Given the description of an element on the screen output the (x, y) to click on. 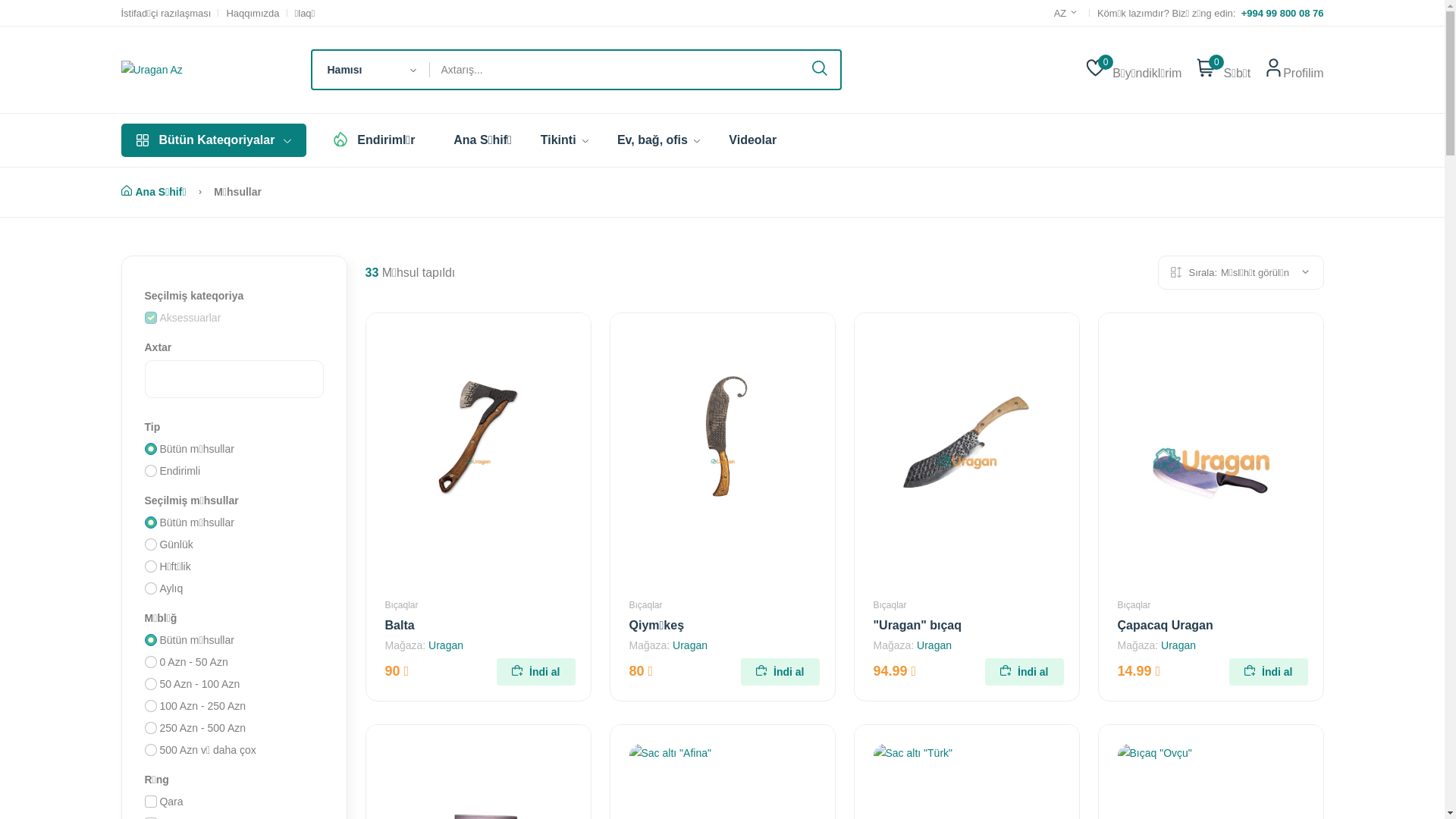
Uragan Element type: text (933, 645)
0 Element type: text (1205, 69)
Profilim Element type: text (1303, 69)
Balta Element type: text (399, 624)
Uragan Element type: text (1178, 645)
Tikinti Element type: text (564, 139)
Uragan Element type: text (445, 645)
Videolar Element type: text (752, 139)
AZ Element type: text (1068, 12)
0 Element type: text (1094, 69)
Uragan Element type: text (689, 645)
  +994 99 800 08 76 Element type: text (1279, 12)
